Given the description of an element on the screen output the (x, y) to click on. 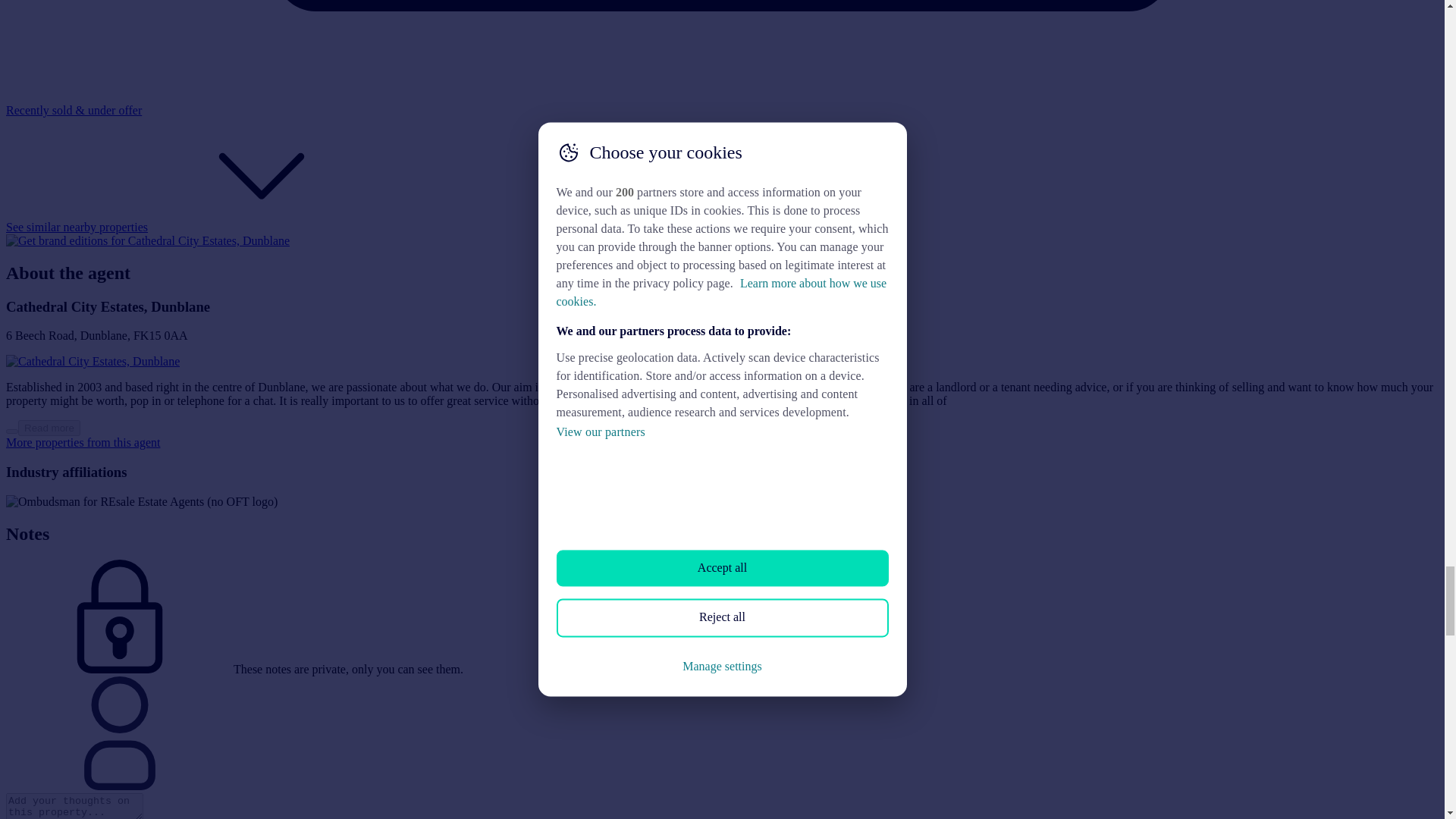
Read more (11, 431)
